Given the description of an element on the screen output the (x, y) to click on. 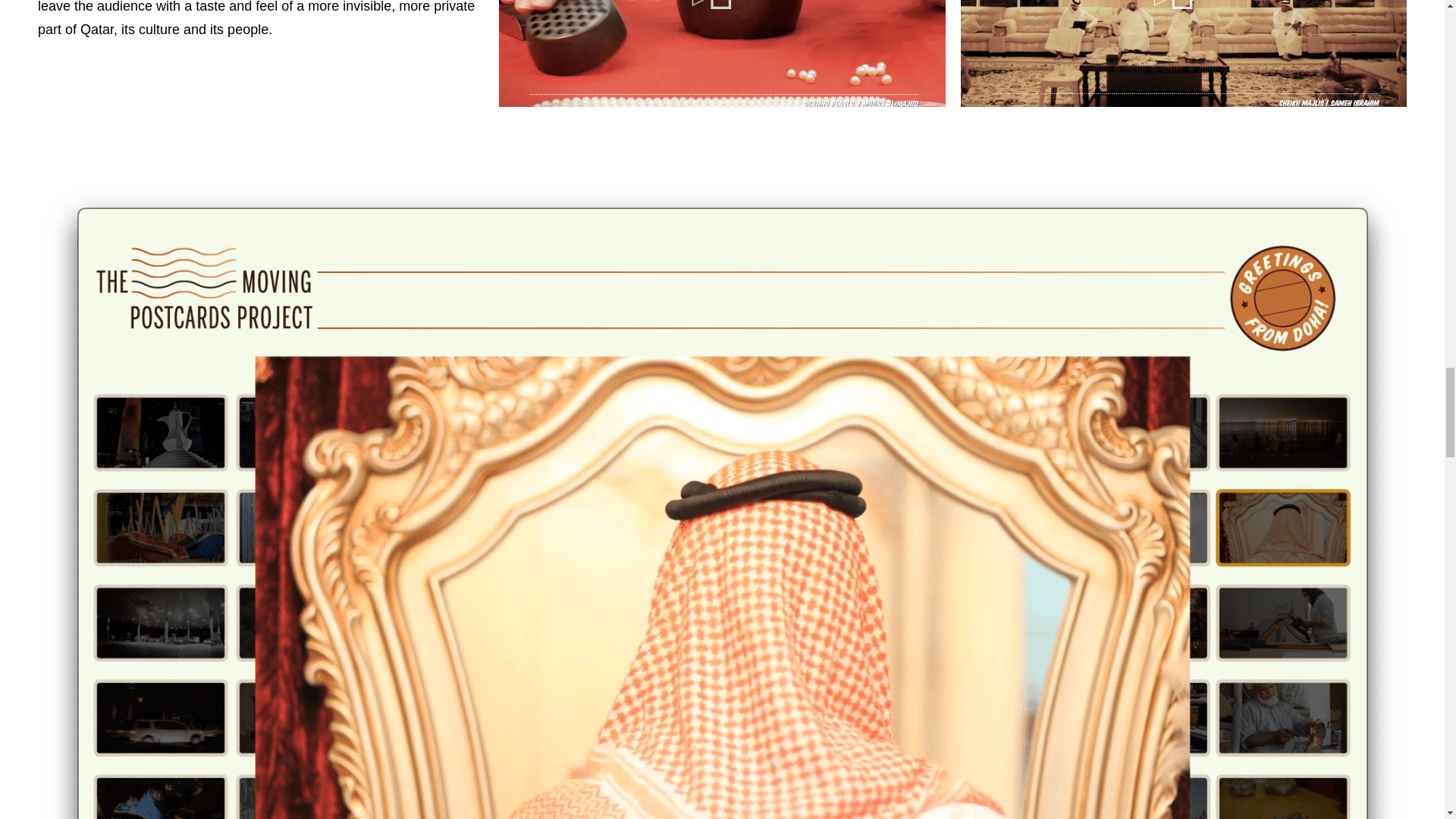
vimeo Video Player (1183, 53)
vimeo Video Player (721, 53)
